Given the description of an element on the screen output the (x, y) to click on. 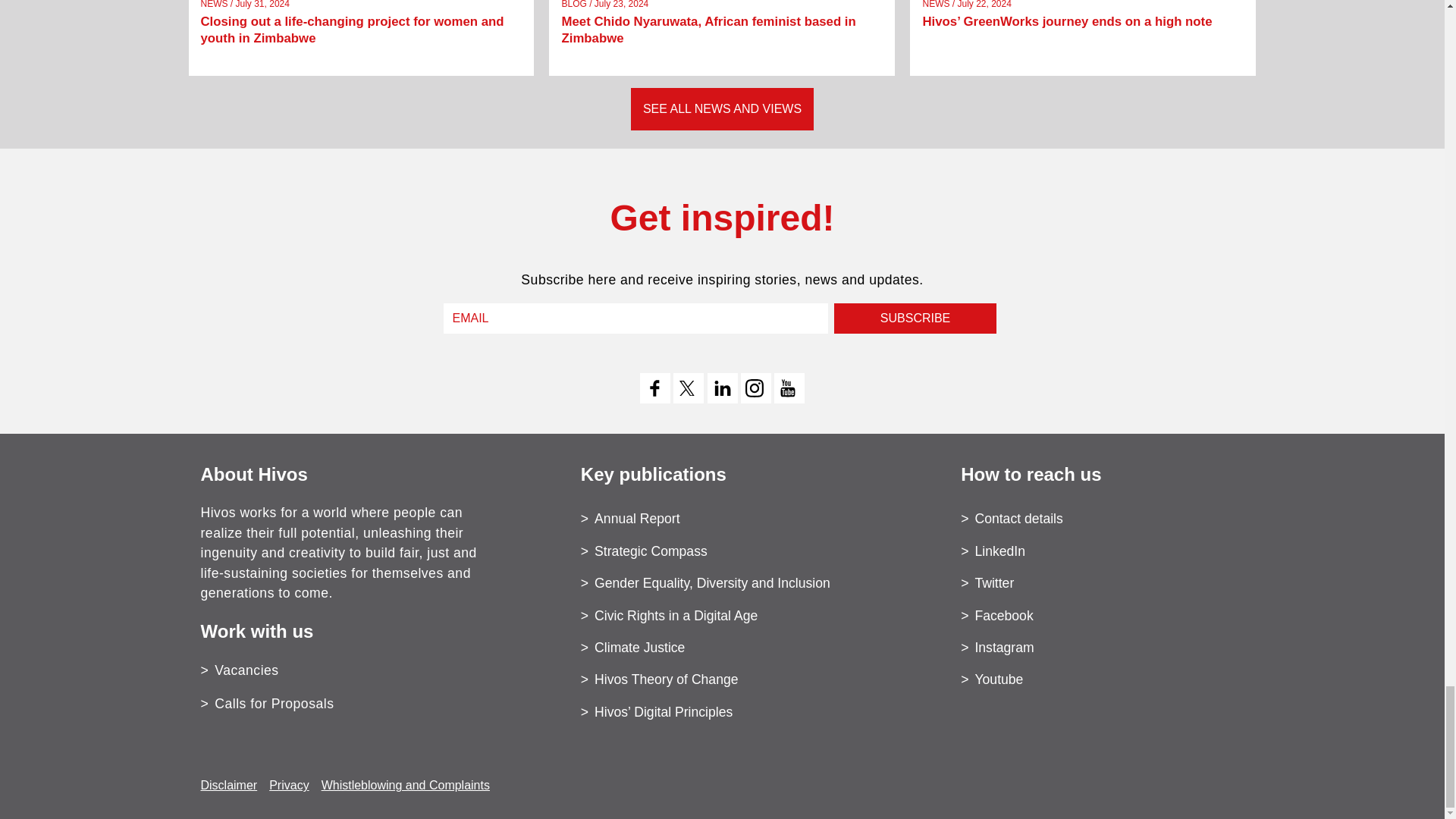
Subscribe (914, 318)
